Given the description of an element on the screen output the (x, y) to click on. 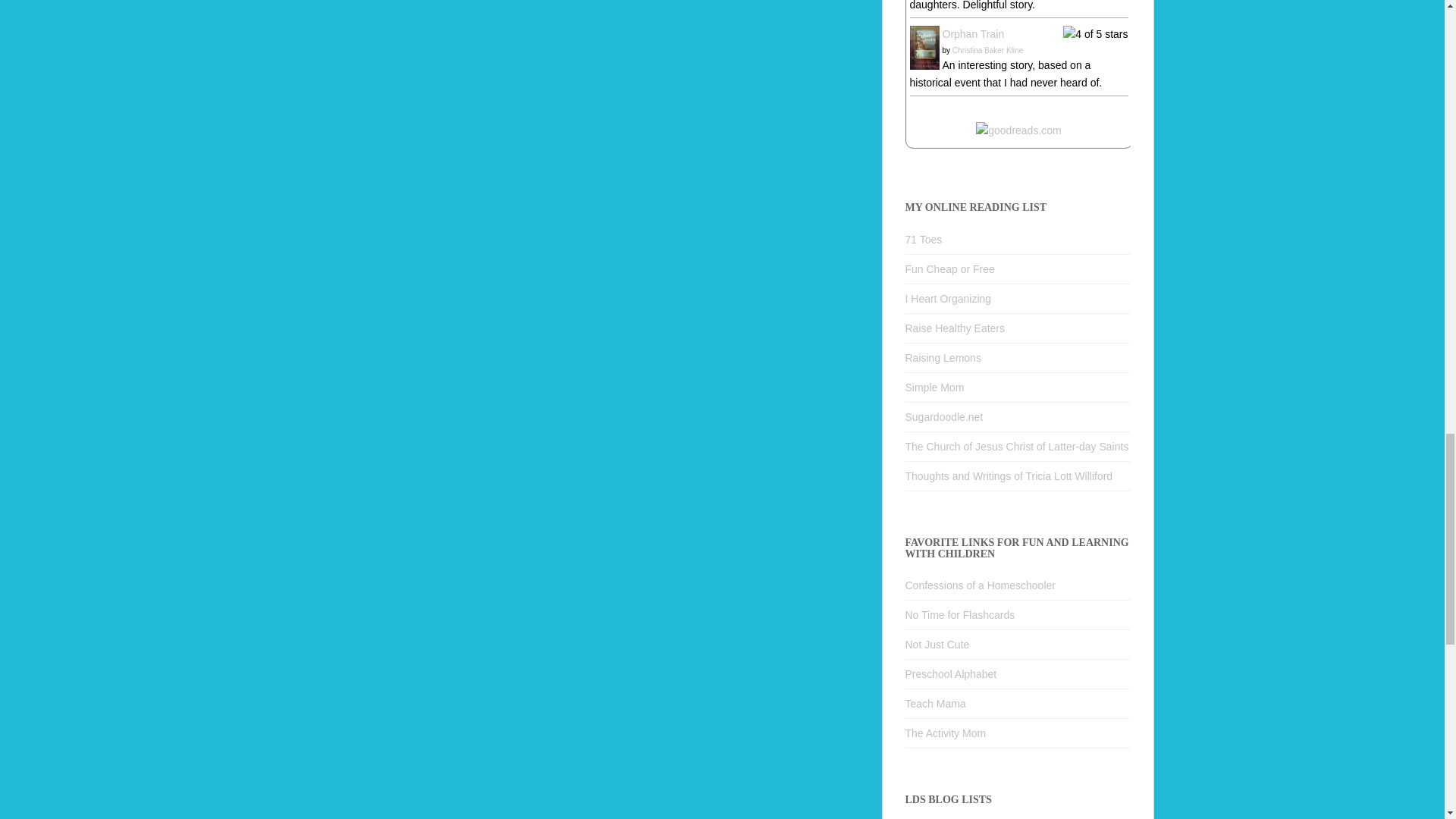
Orphan Train (924, 46)
